Given the description of an element on the screen output the (x, y) to click on. 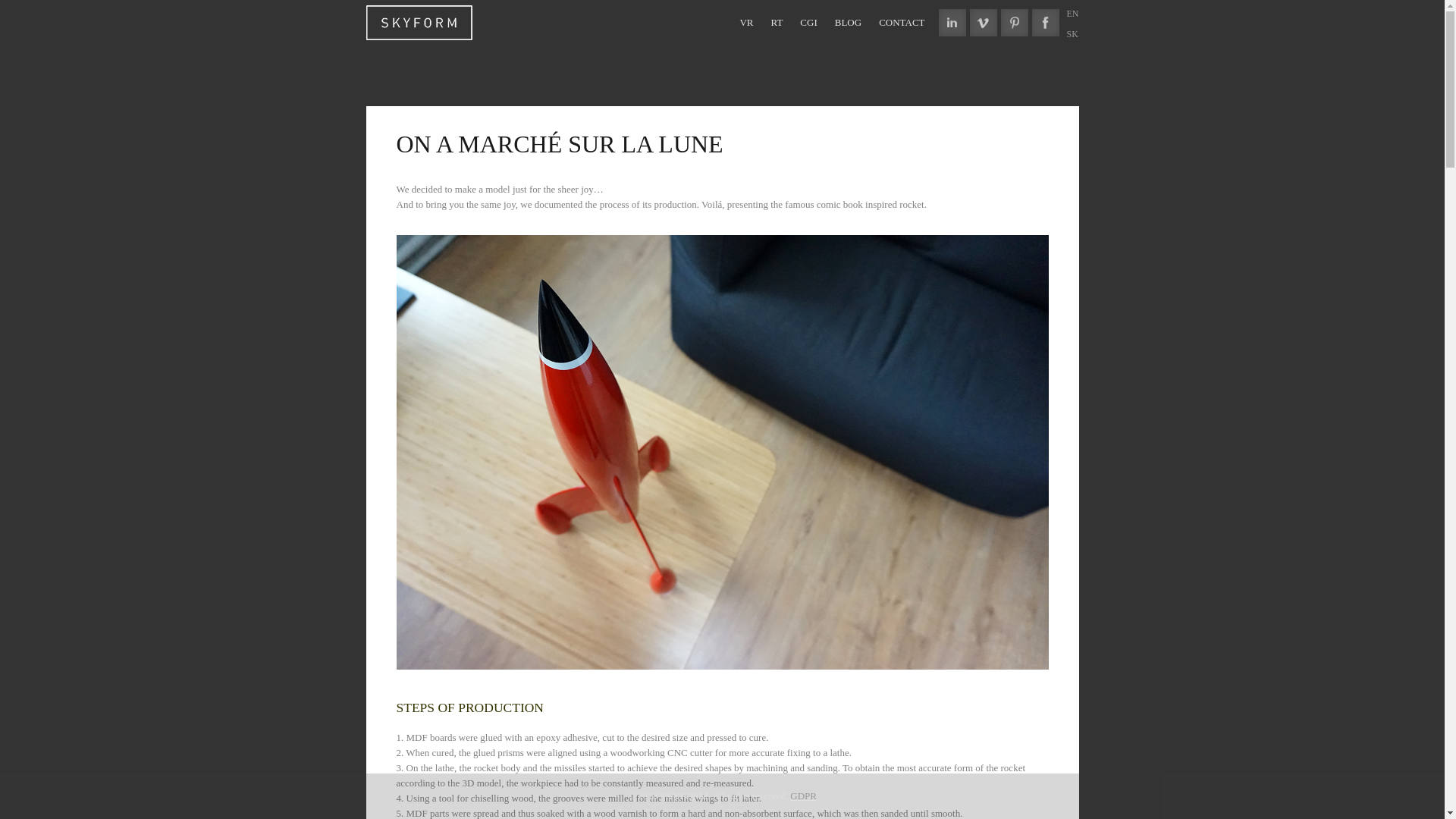
CONTACT (901, 22)
Visit LinkedIn page (952, 22)
Visit Pinterest page (1014, 22)
Visit Facebook page (1044, 22)
SK (1071, 33)
EN (1071, 13)
SKYFORM  (418, 19)
Visit Vimeo page (982, 22)
GDPR (803, 795)
